Given the description of an element on the screen output the (x, y) to click on. 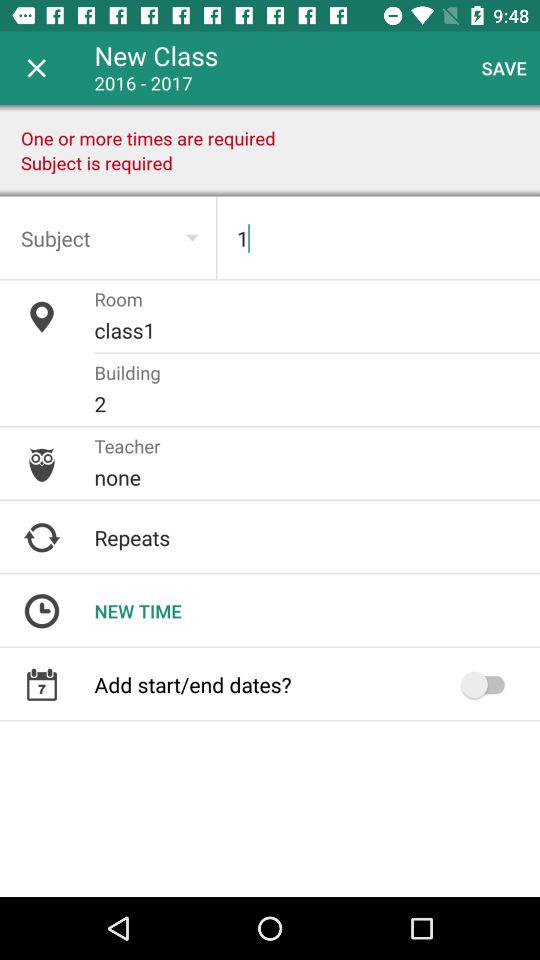
select subject (108, 238)
